Given the description of an element on the screen output the (x, y) to click on. 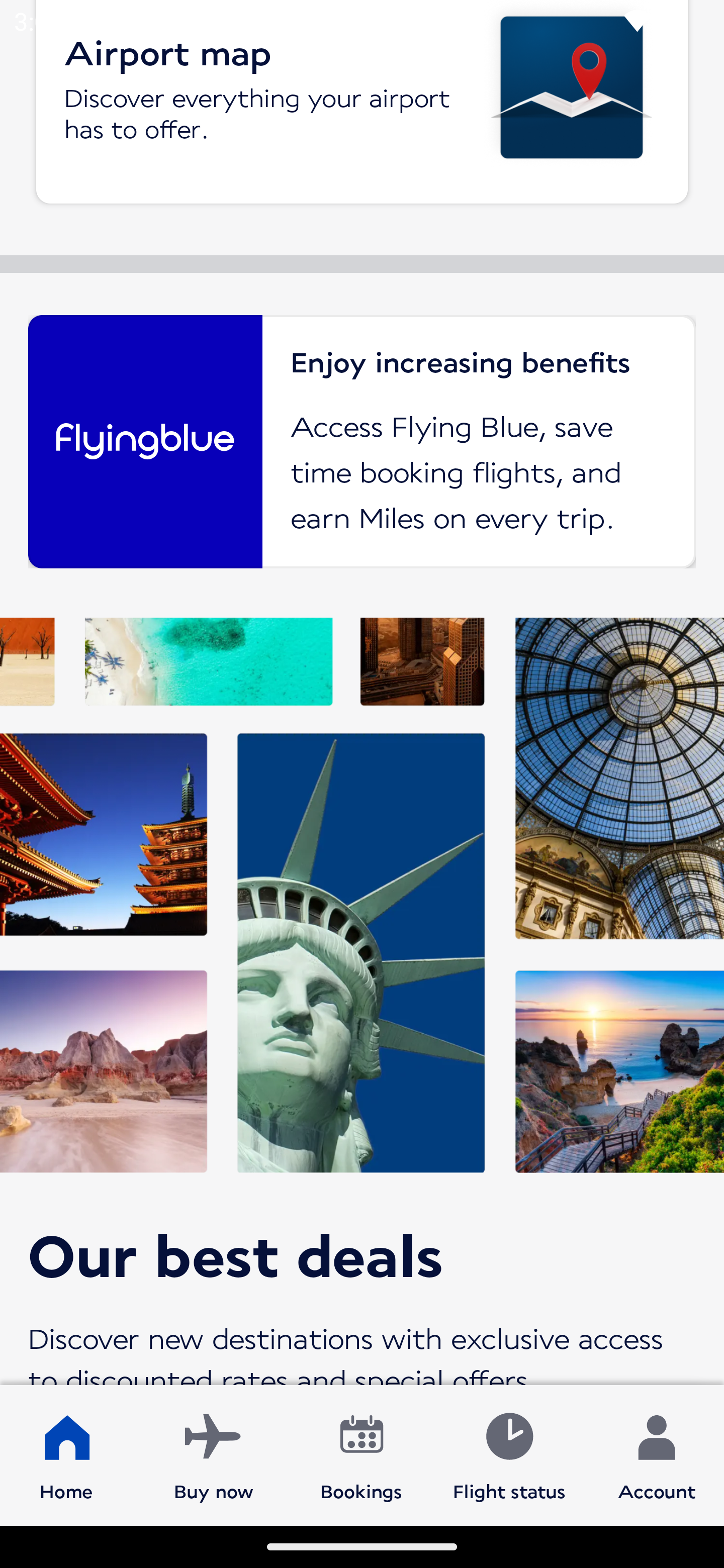
Buy now (213, 1454)
Bookings (361, 1454)
Flight status (509, 1454)
Account (657, 1454)
